Given the description of an element on the screen output the (x, y) to click on. 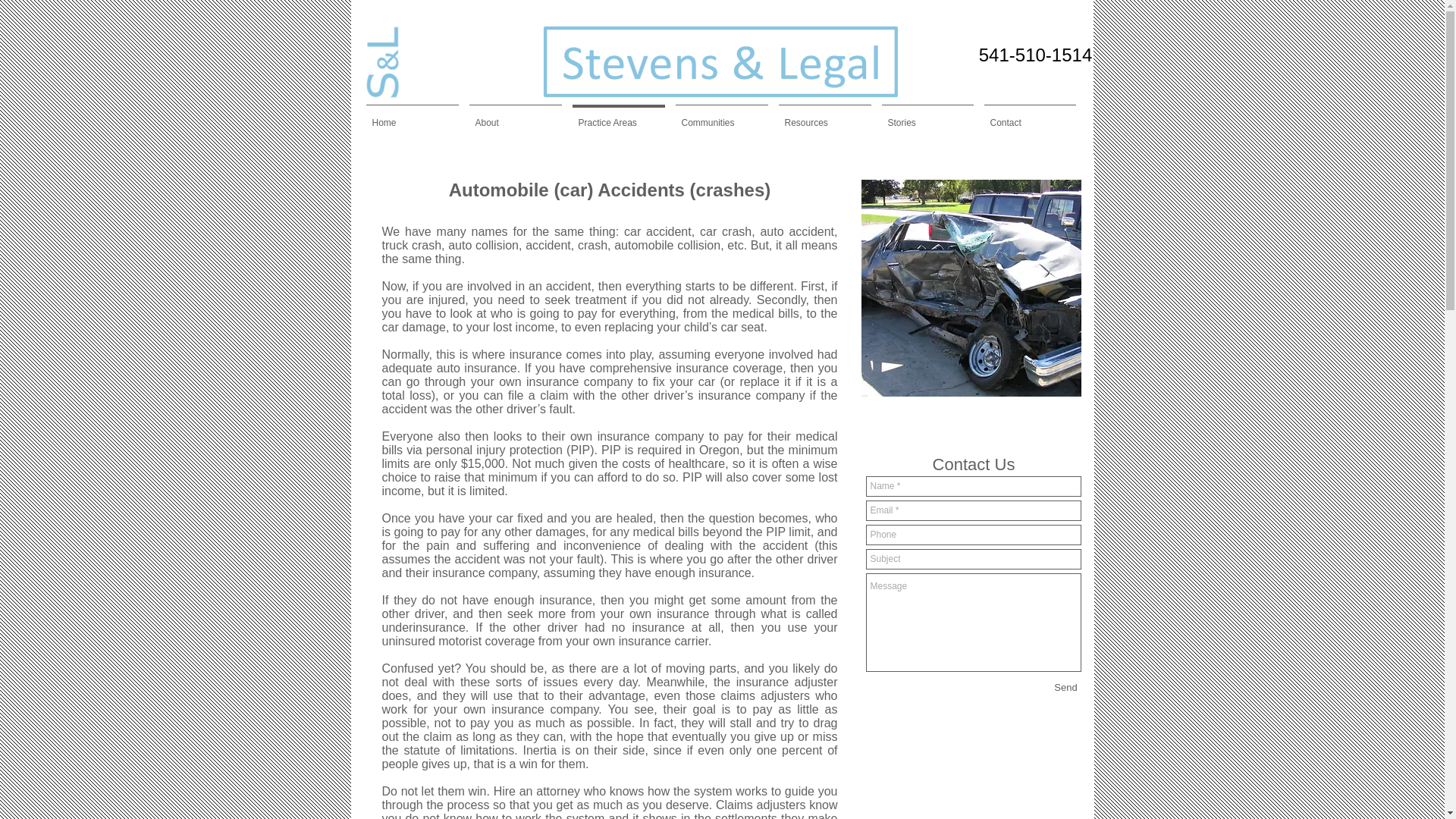
Resources (824, 115)
About (515, 115)
Stories (927, 115)
Car crashes can cause serious injuries (971, 287)
Home (412, 115)
Contact (1029, 115)
Communities (721, 115)
Practice Areas (618, 115)
